Given the description of an element on the screen output the (x, y) to click on. 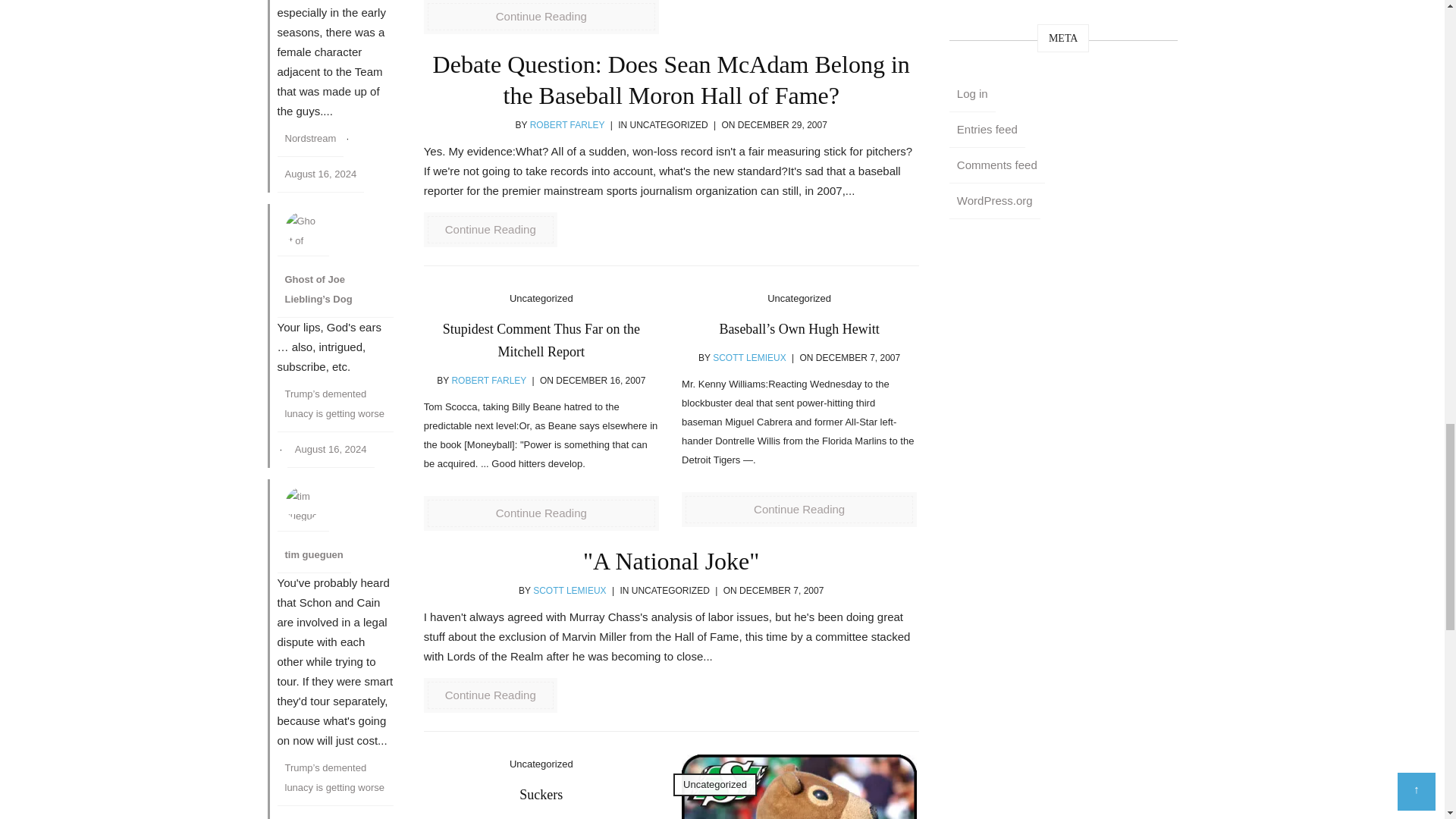
Posts by Scott Lemieux (749, 357)
Posts by Robert Farley (567, 124)
Posts by Scott Lemieux (490, 818)
Posts by Scott Lemieux (568, 590)
Posts by Robert Farley (488, 380)
Ignorance Is Bliss (799, 786)
